Given the description of an element on the screen output the (x, y) to click on. 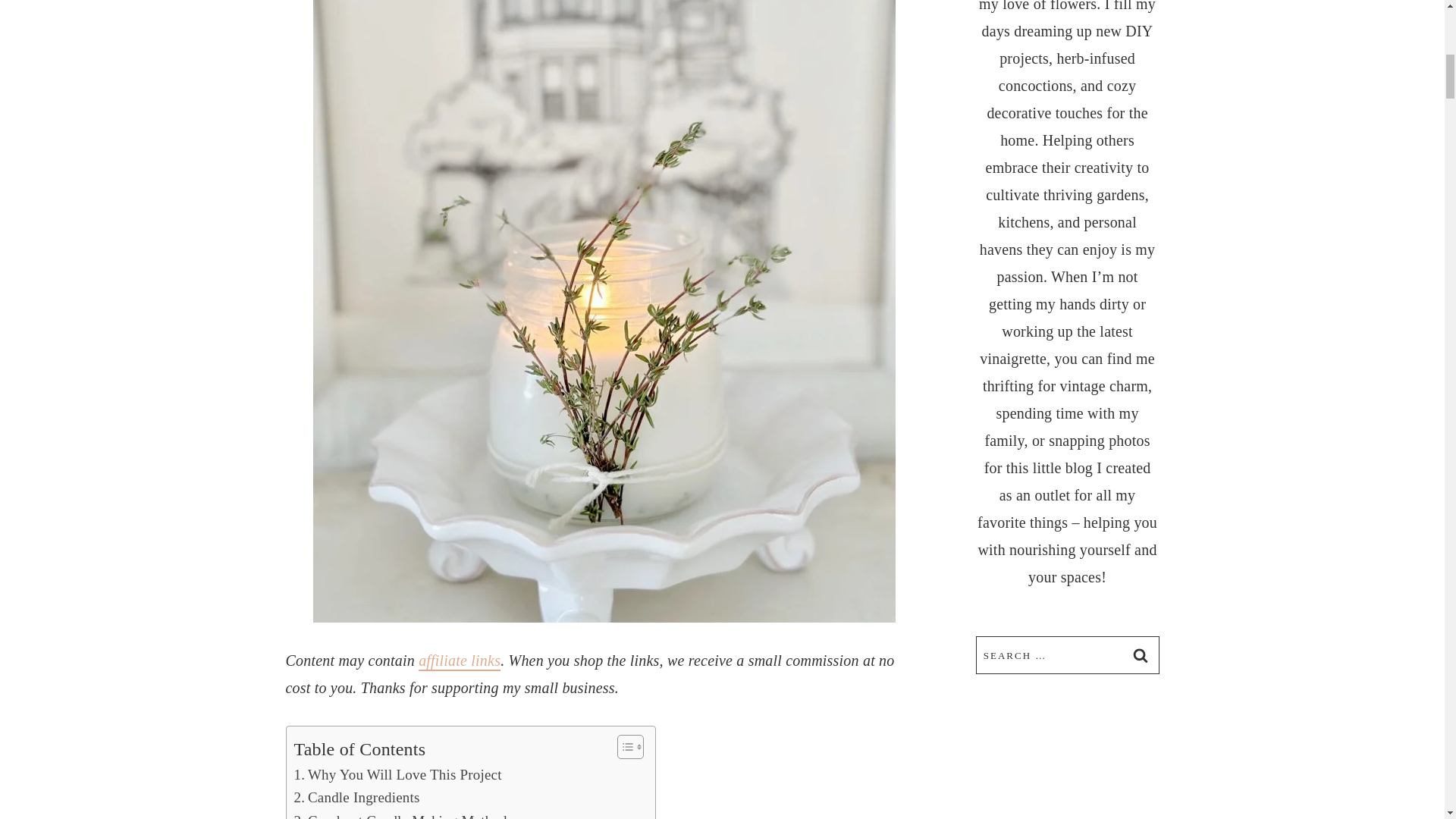
Crockpot Candle Making Method (400, 814)
Crockpot Candle Making Method (400, 814)
Candle Ingredients (357, 797)
Search (1139, 655)
Why You Will Love This Project (398, 774)
Why You Will Love This Project (398, 774)
affiliate links (459, 660)
Candle Ingredients (357, 797)
Search (1139, 655)
